Given the description of an element on the screen output the (x, y) to click on. 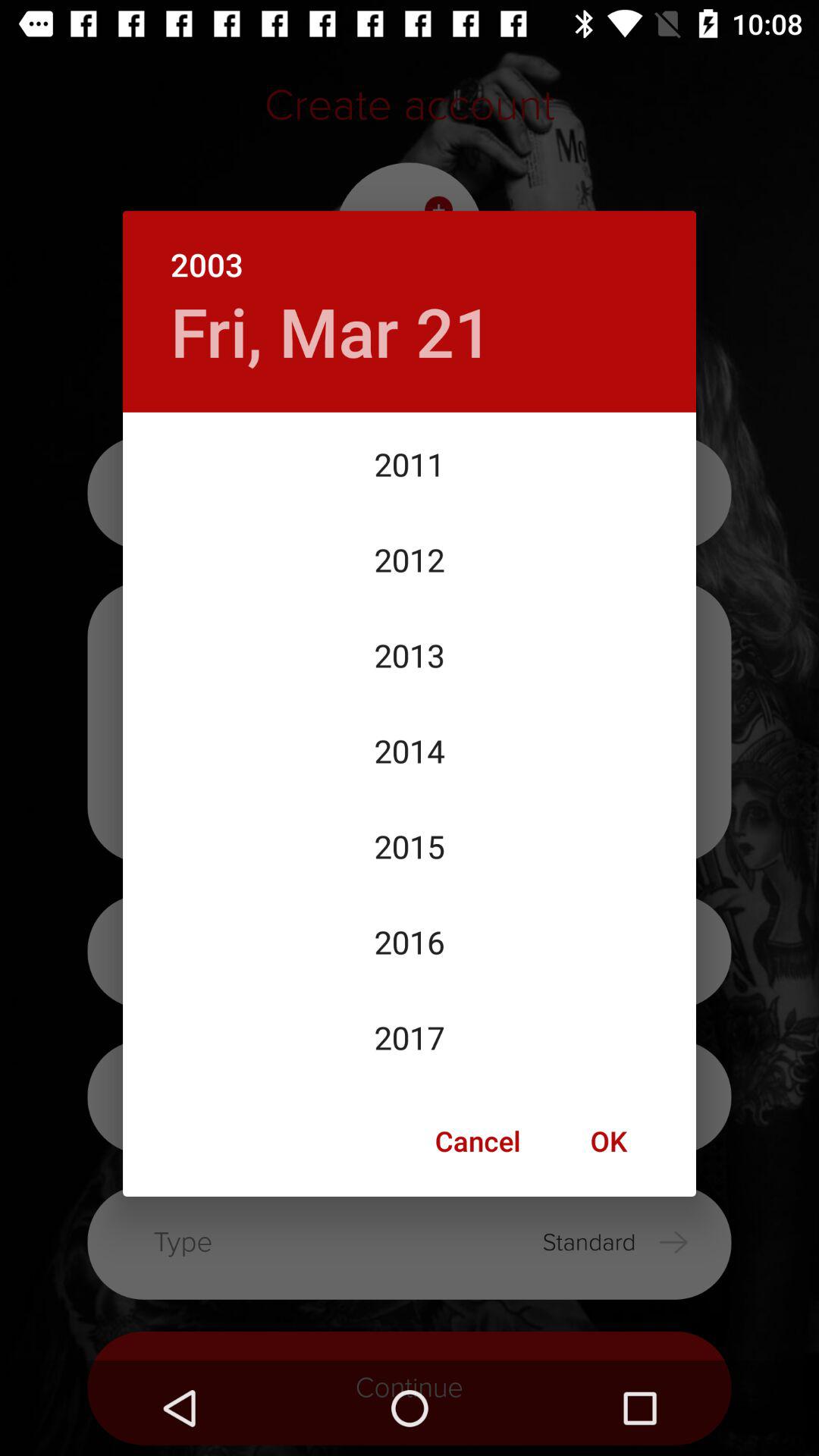
turn on icon at the bottom right corner (608, 1140)
